Given the description of an element on the screen output the (x, y) to click on. 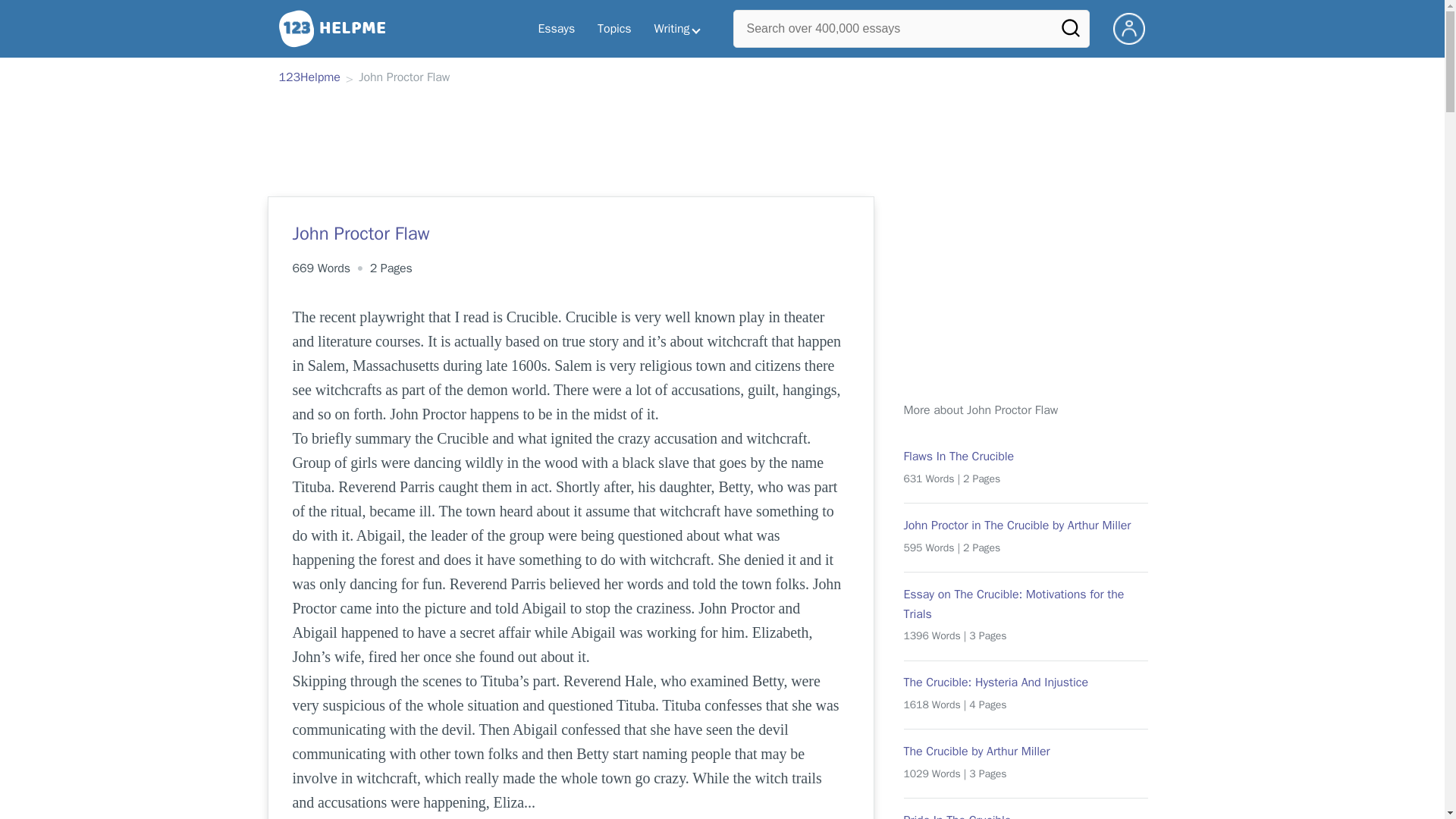
Essays (555, 28)
Writing (677, 28)
Topics (614, 28)
123Helpme (309, 78)
